Given the description of an element on the screen output the (x, y) to click on. 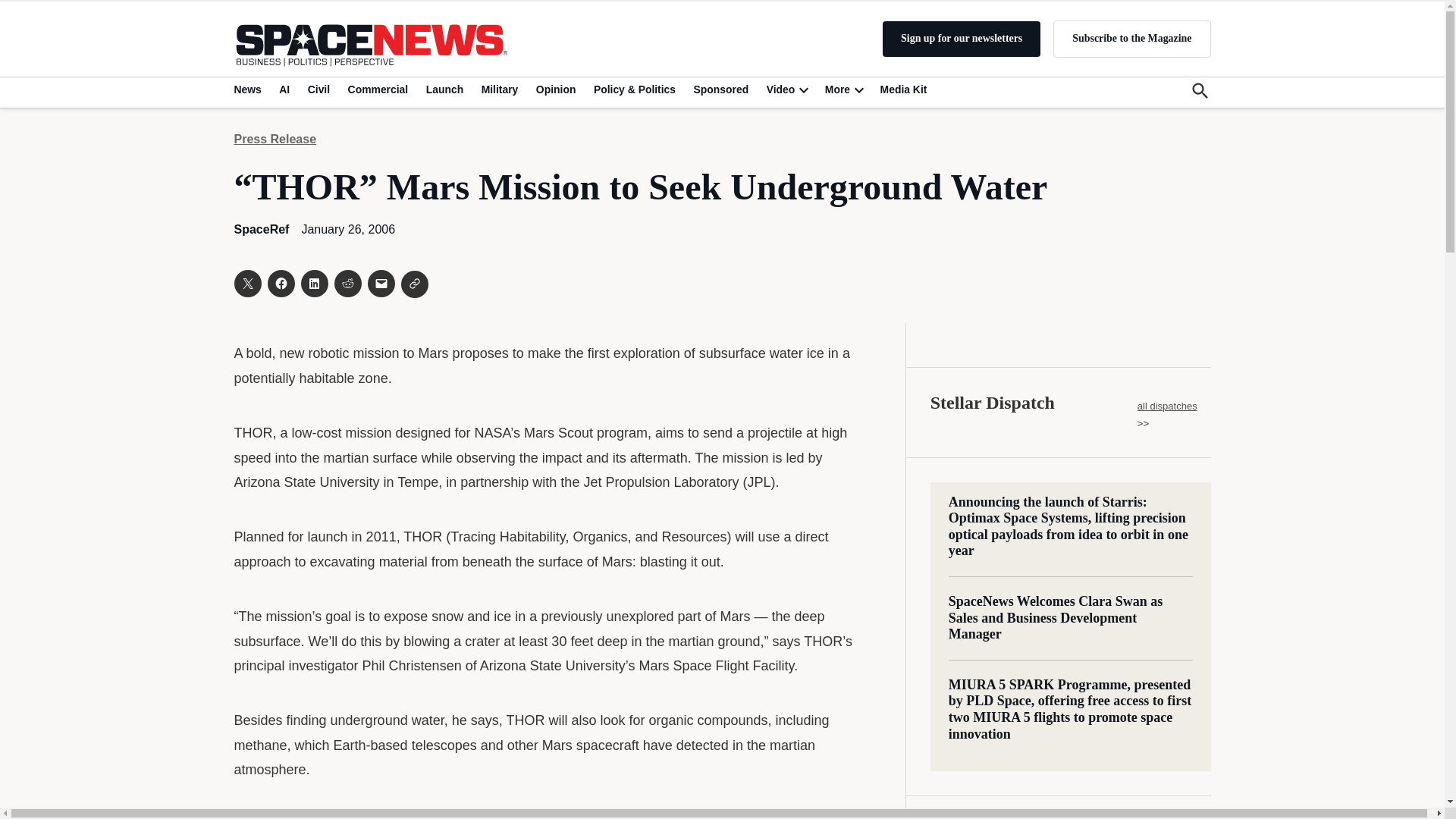
Click to share on Reddit (347, 283)
News (249, 89)
Click to share on X (246, 283)
Click to email a link to a friend (380, 283)
AI (284, 89)
Click to share on LinkedIn (313, 283)
Sign up for our newsletters (961, 38)
Subscribe to the Magazine (1130, 38)
Click to share on Facebook (280, 283)
Click to share on Clipboard (414, 284)
